Given the description of an element on the screen output the (x, y) to click on. 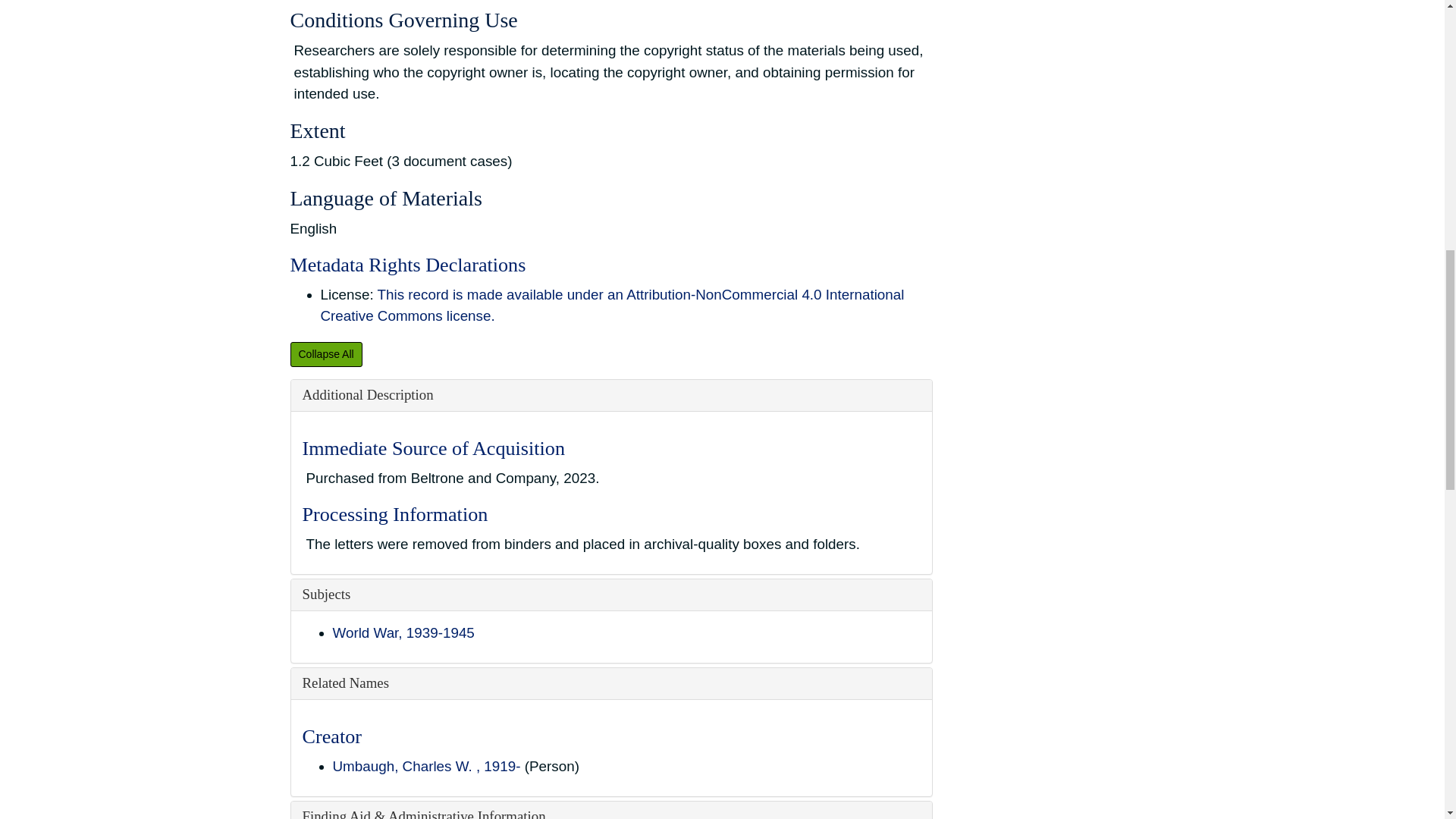
Umbaugh, Charles W. , 1919- (425, 765)
World War, 1939-1945 (402, 632)
Subjects (325, 593)
Collapse All (325, 354)
Additional Description (366, 394)
Related Names (344, 682)
